Given the description of an element on the screen output the (x, y) to click on. 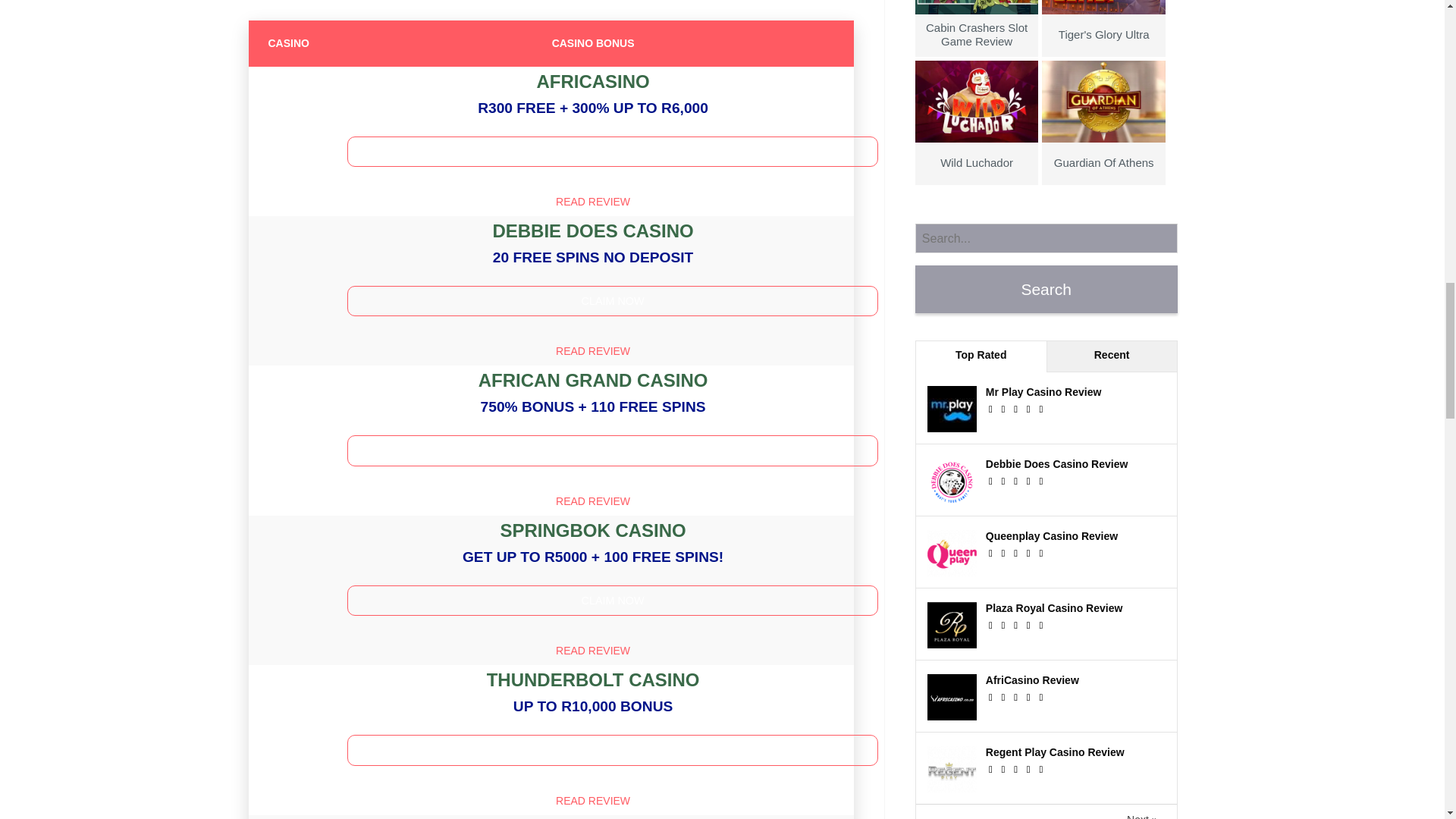
Search (1046, 288)
Search (1046, 288)
Cabin Crashers Slot Game Review (976, 27)
